Given the description of an element on the screen output the (x, y) to click on. 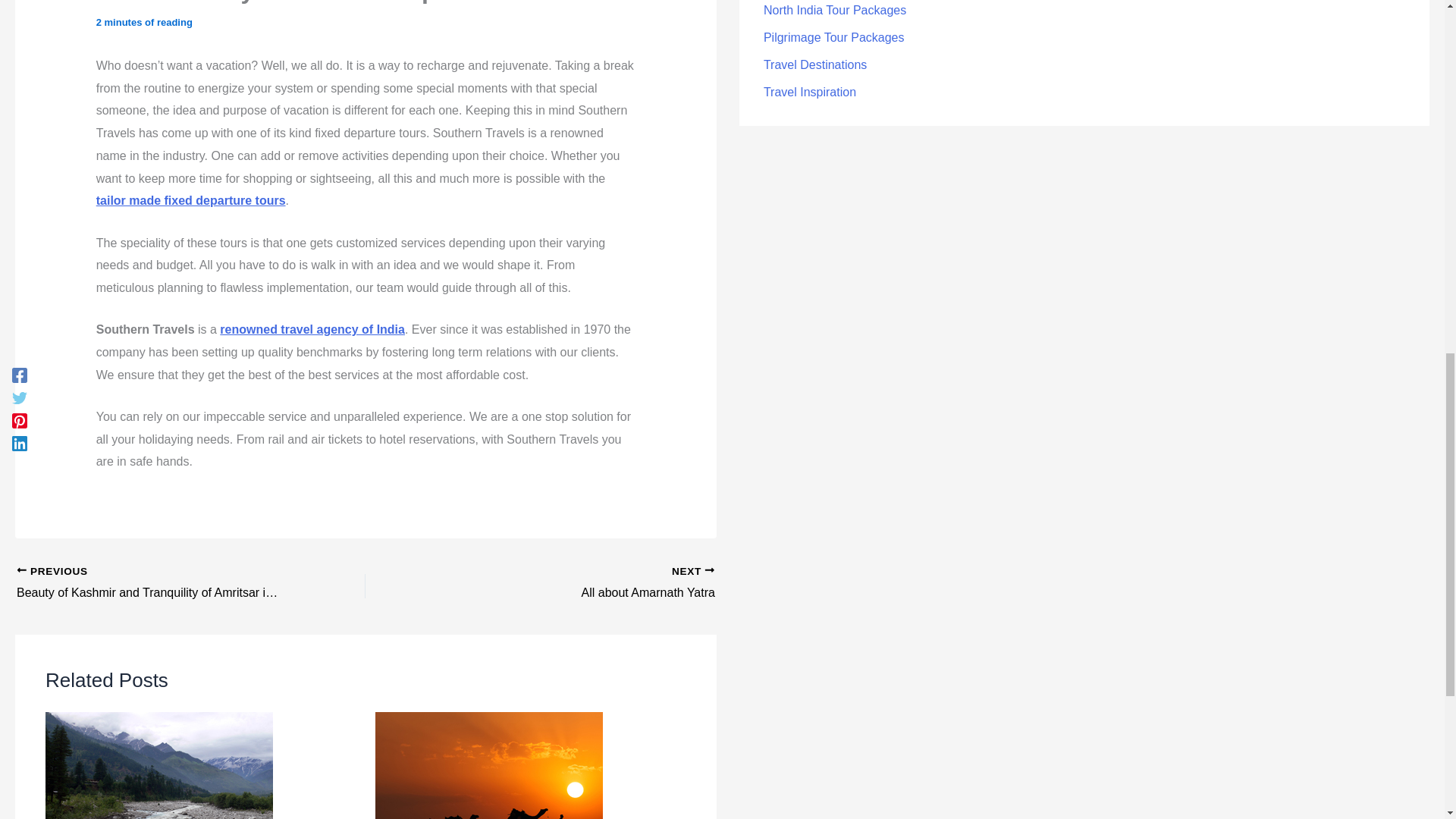
tailor made fixed departure tours (190, 200)
renowned travel agency of India (311, 328)
All about Amarnath Yatra (573, 583)
